Given the description of an element on the screen output the (x, y) to click on. 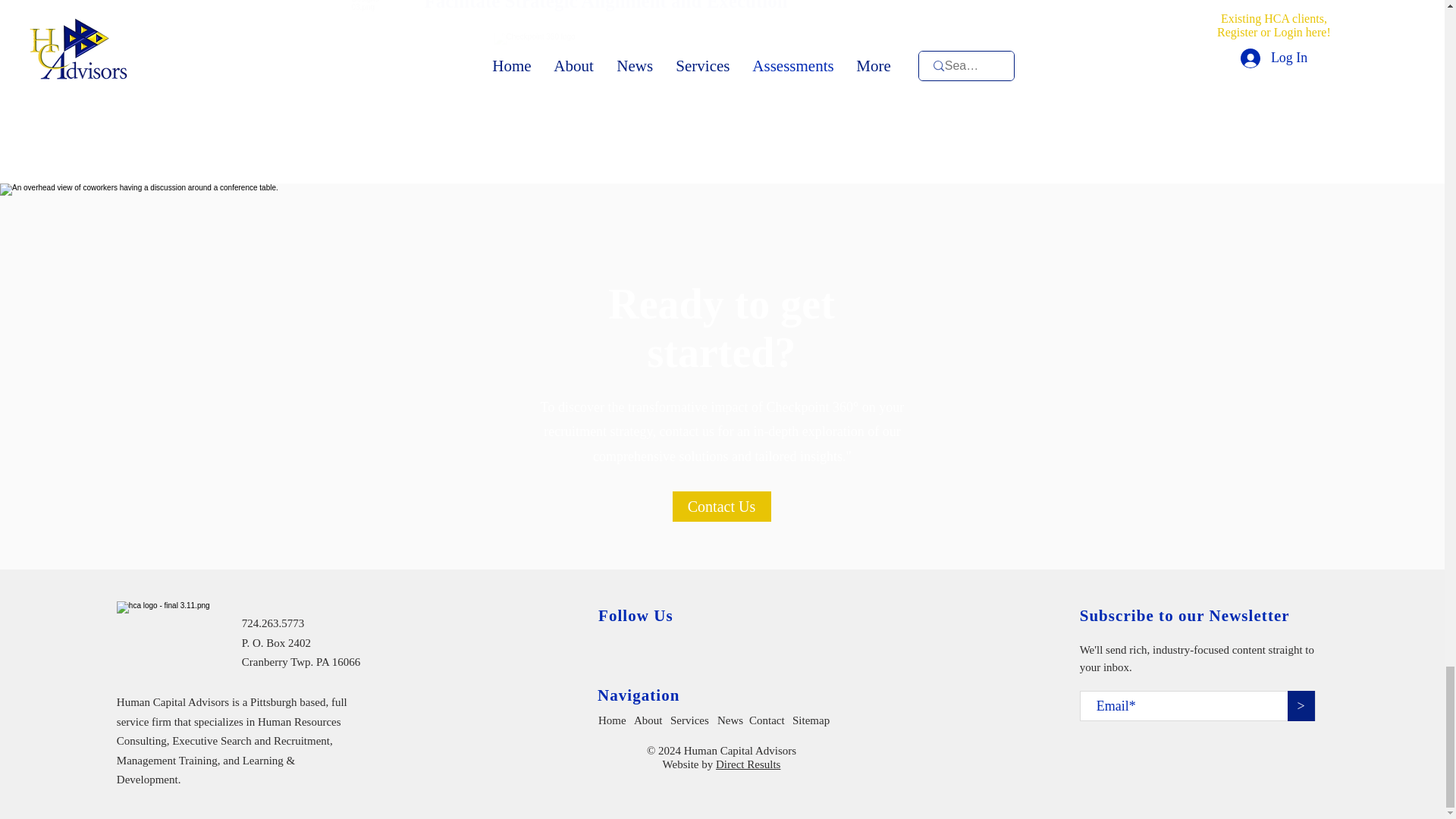
Direct Results (748, 764)
News (730, 721)
Contact Us (720, 506)
Home (617, 721)
Contact (768, 721)
Services (691, 721)
Sitemap (813, 721)
About (650, 721)
